Given the description of an element on the screen output the (x, y) to click on. 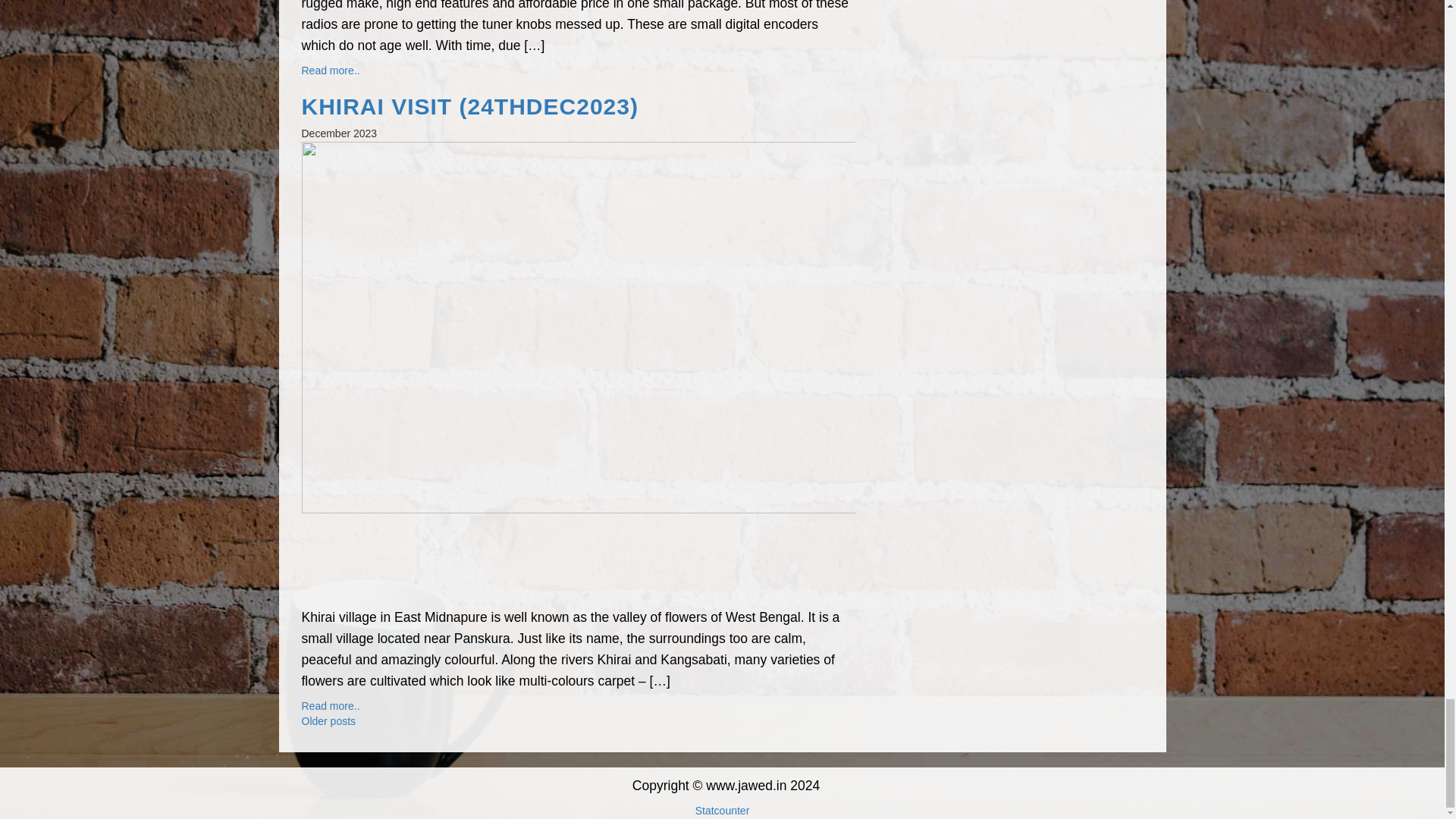
Read more.. (330, 705)
Read more.. (330, 70)
Older posts (328, 720)
